Given the description of an element on the screen output the (x, y) to click on. 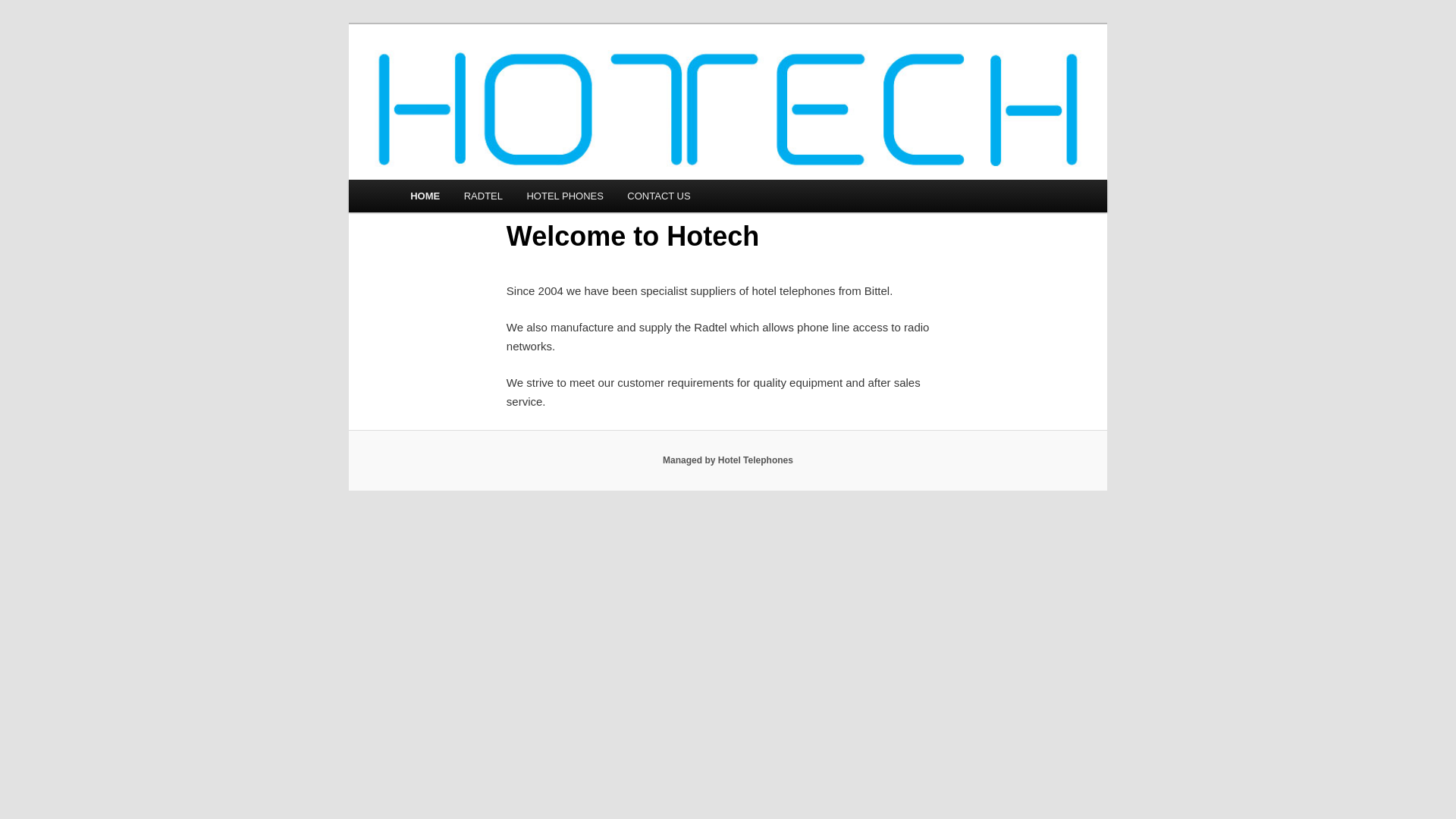
CONTACT US Element type: text (658, 195)
Skip to primary content Element type: text (22, 22)
Managed by Hotel Telephones Element type: text (727, 460)
HOME Element type: text (424, 195)
RADTEL Element type: text (482, 195)
Search Element type: text (24, 8)
Hotel Telephones Element type: text (500, 78)
HOTEL PHONES Element type: text (564, 195)
